Given the description of an element on the screen output the (x, y) to click on. 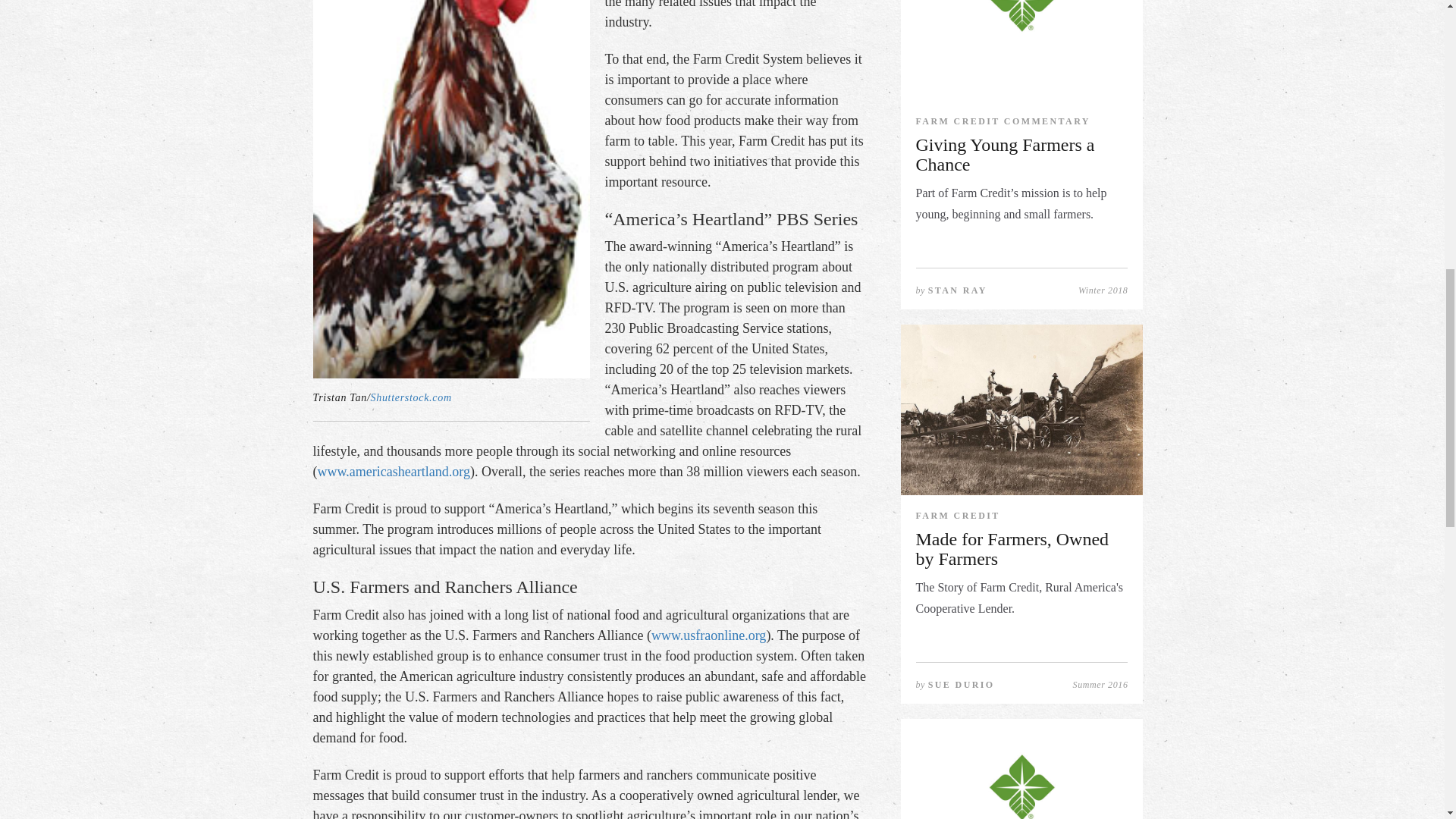
www.americasheartland.org (392, 471)
Shutterstock.com (410, 397)
www.usfraonline.org (707, 635)
